Given the description of an element on the screen output the (x, y) to click on. 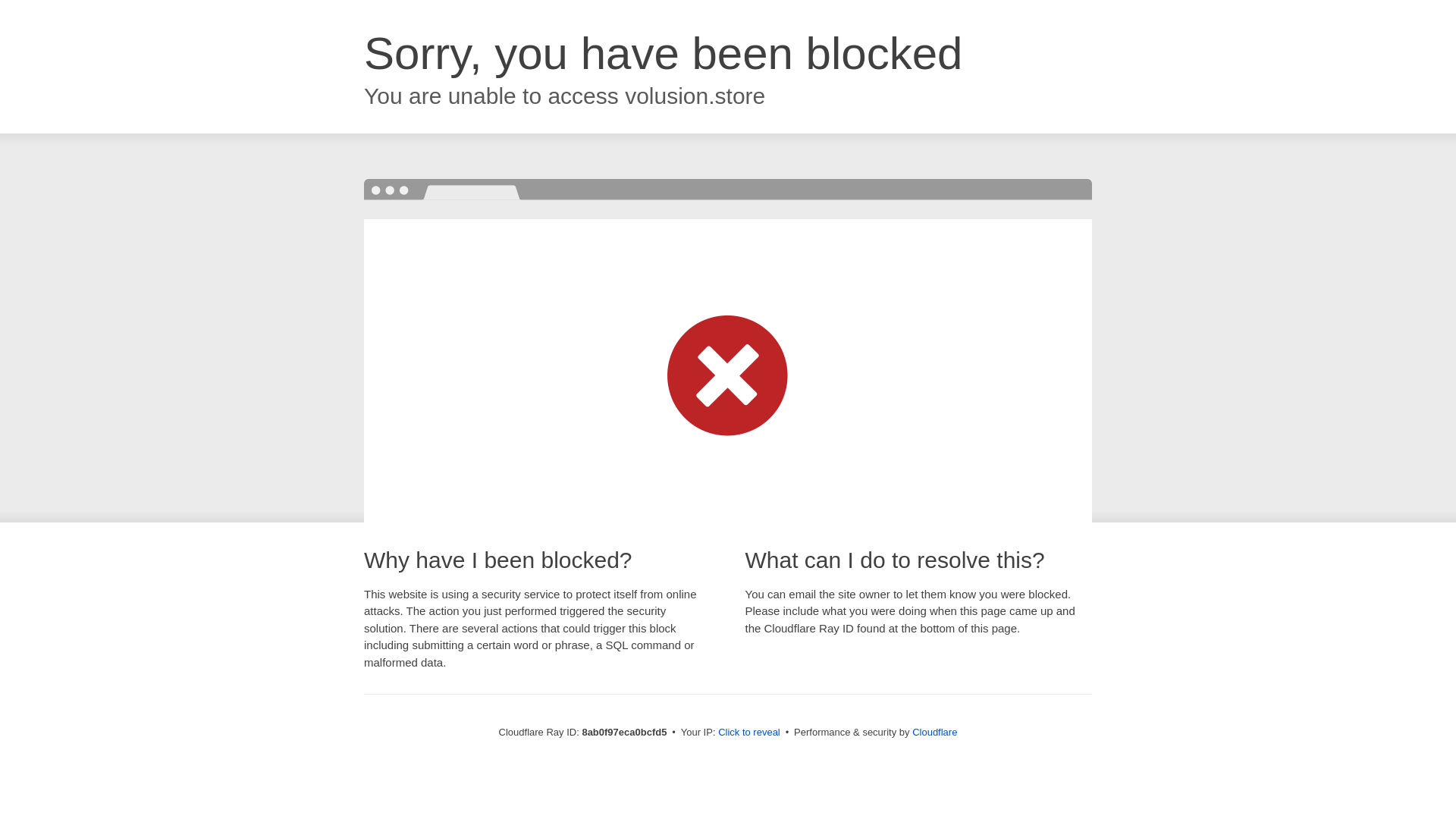
Cloudflare (934, 731)
Click to reveal (748, 732)
